Given the description of an element on the screen output the (x, y) to click on. 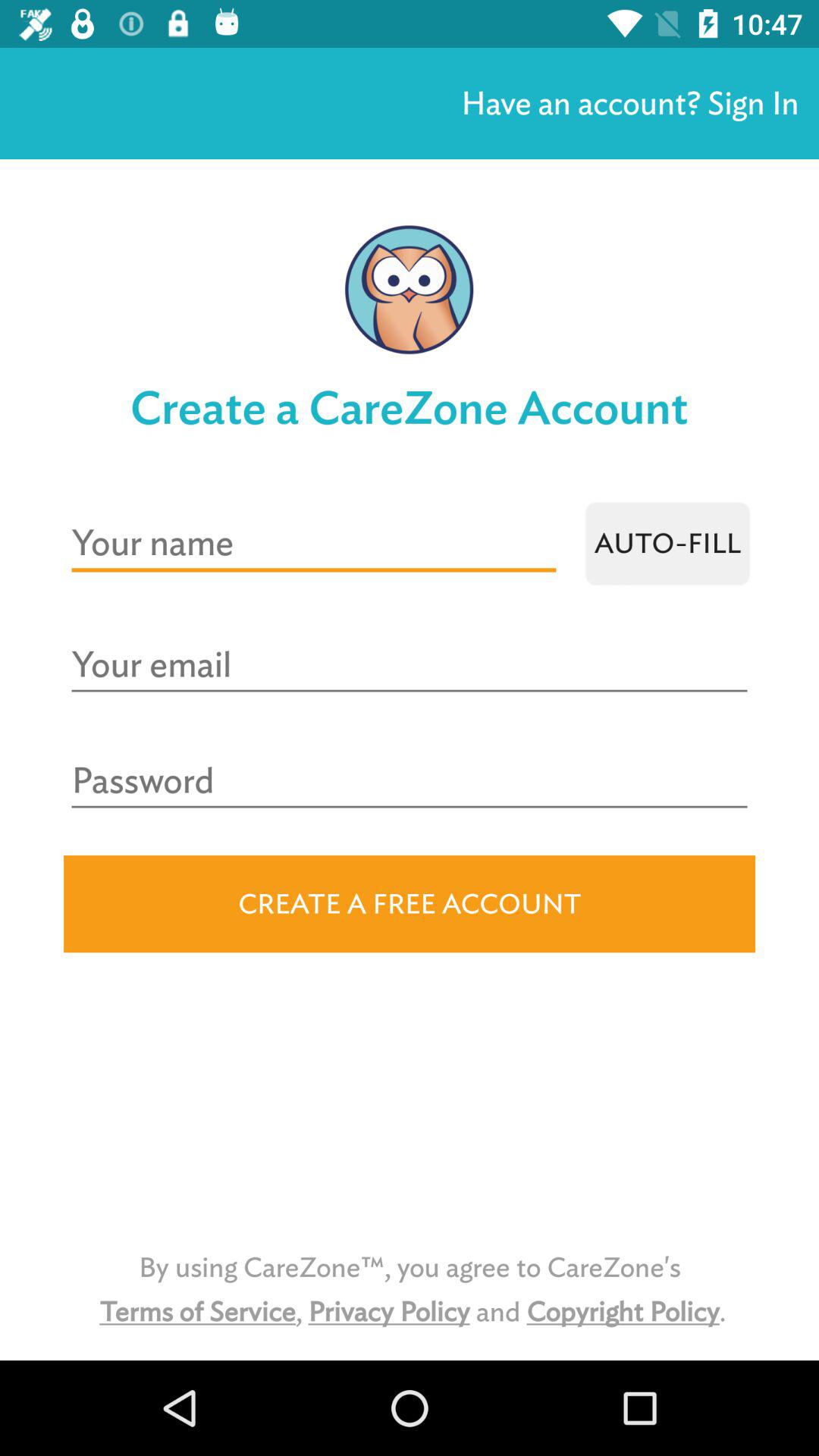
press icon below the create a free icon (409, 1289)
